Given the description of an element on the screen output the (x, y) to click on. 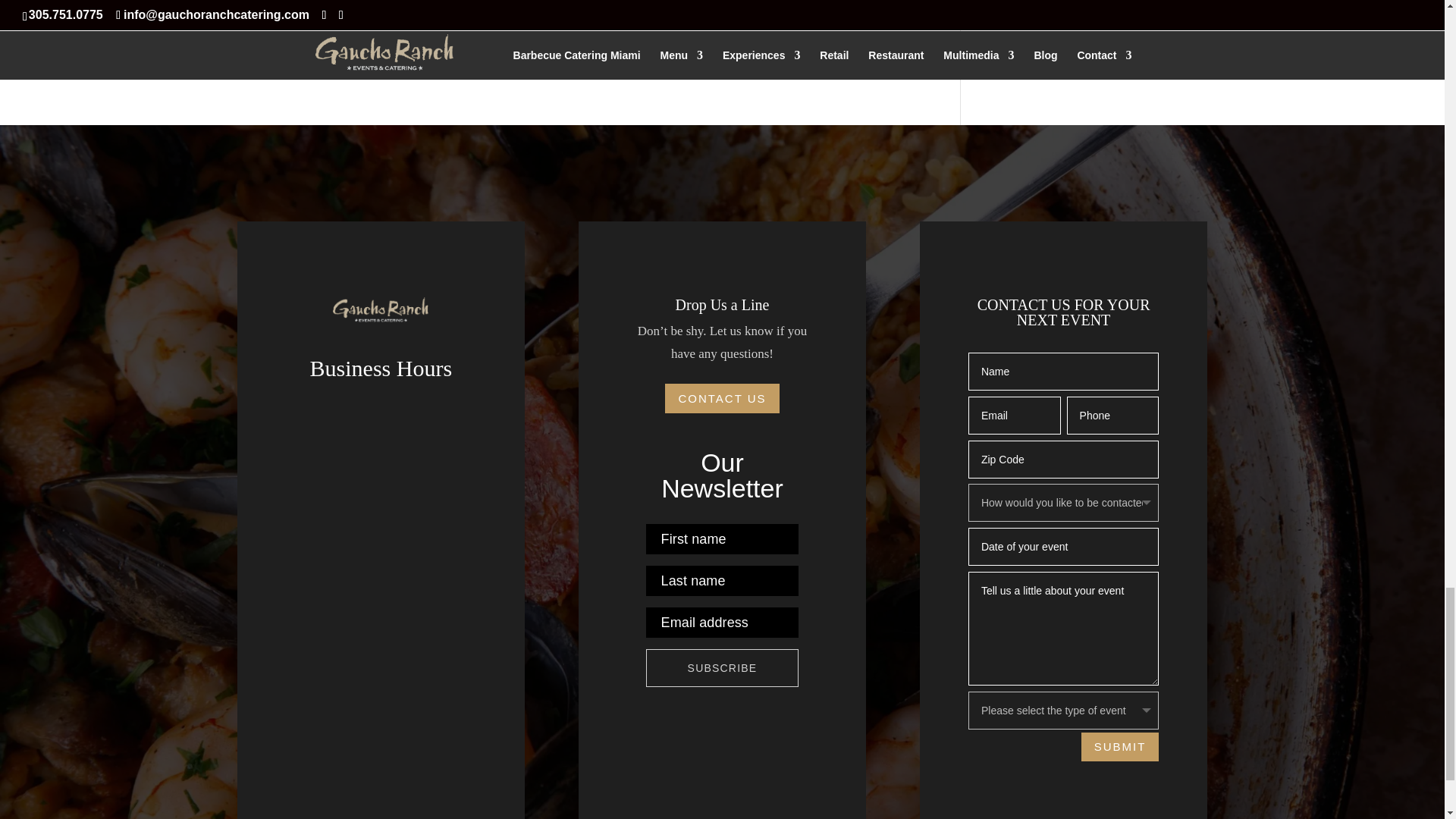
Submit Comment (840, 2)
gaucho-catering-logo (380, 311)
